Given the description of an element on the screen output the (x, y) to click on. 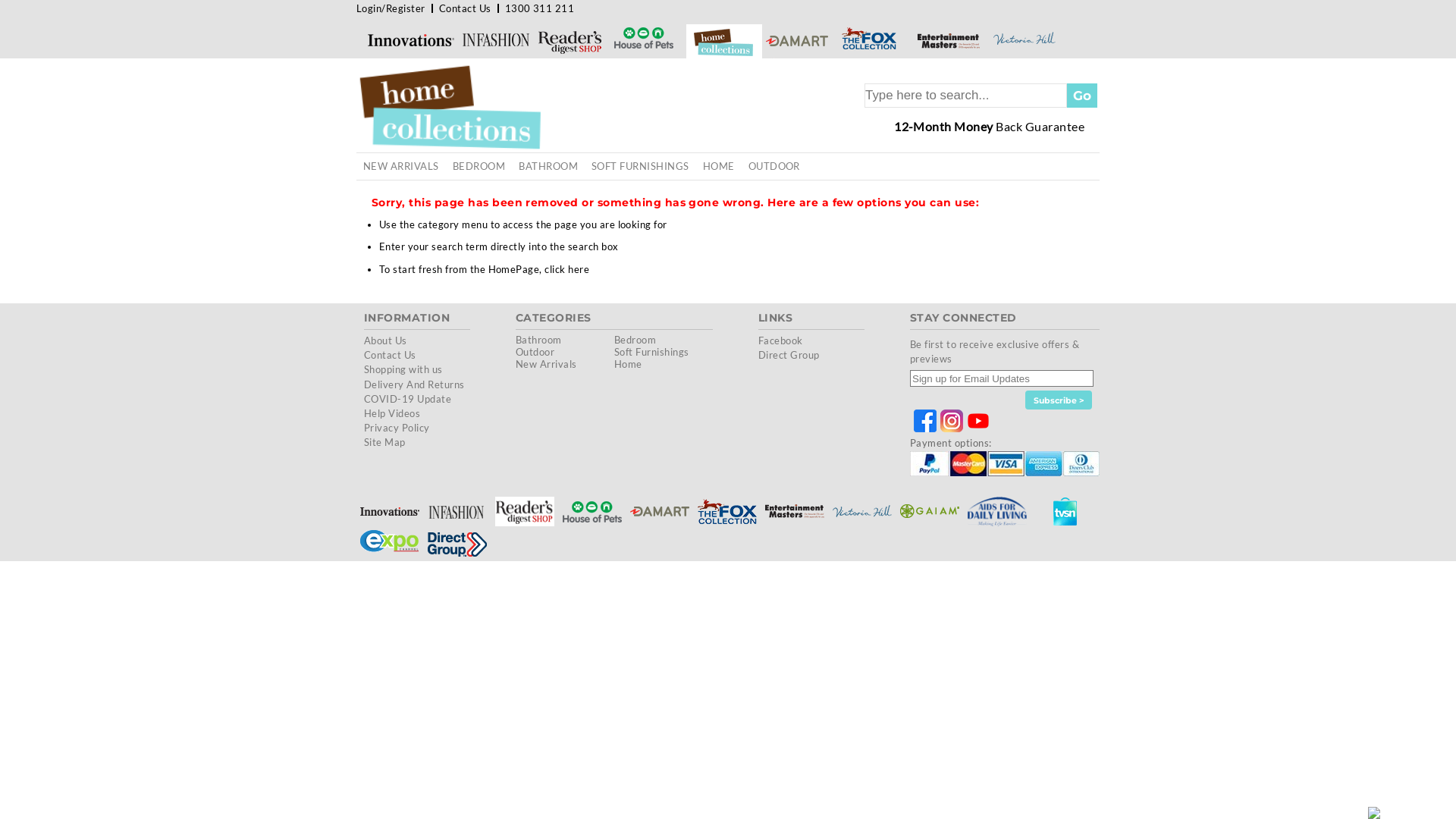
Go Element type: text (1081, 95)
Bedroom Element type: text (634, 339)
here Element type: text (578, 269)
Direct Group Element type: text (788, 354)
Outdoor Element type: text (534, 351)
Home Element type: text (628, 363)
Contact Us Element type: text (465, 8)
Help Videos Element type: text (392, 413)
OUTDOOR Element type: text (773, 166)
Login/Register Element type: text (390, 8)
BATHROOM Element type: text (547, 166)
COVID-19 Update Element type: text (407, 398)
Shopping with us Element type: text (403, 369)
About Us Element type: text (385, 340)
Contact Us Element type: text (390, 354)
Soft Furnishings Element type: text (651, 351)
Privacy Policy Element type: text (396, 427)
Facebook Element type: text (780, 340)
SOFT FURNISHINGS Element type: text (640, 166)
Delivery And Returns Element type: text (414, 384)
Bathroom Element type: text (538, 339)
NEW ARRIVALS Element type: text (400, 166)
HOME Element type: text (718, 166)
Site Map Element type: text (384, 442)
BEDROOM Element type: text (478, 166)
New Arrivals Element type: text (546, 363)
